Given the description of an element on the screen output the (x, y) to click on. 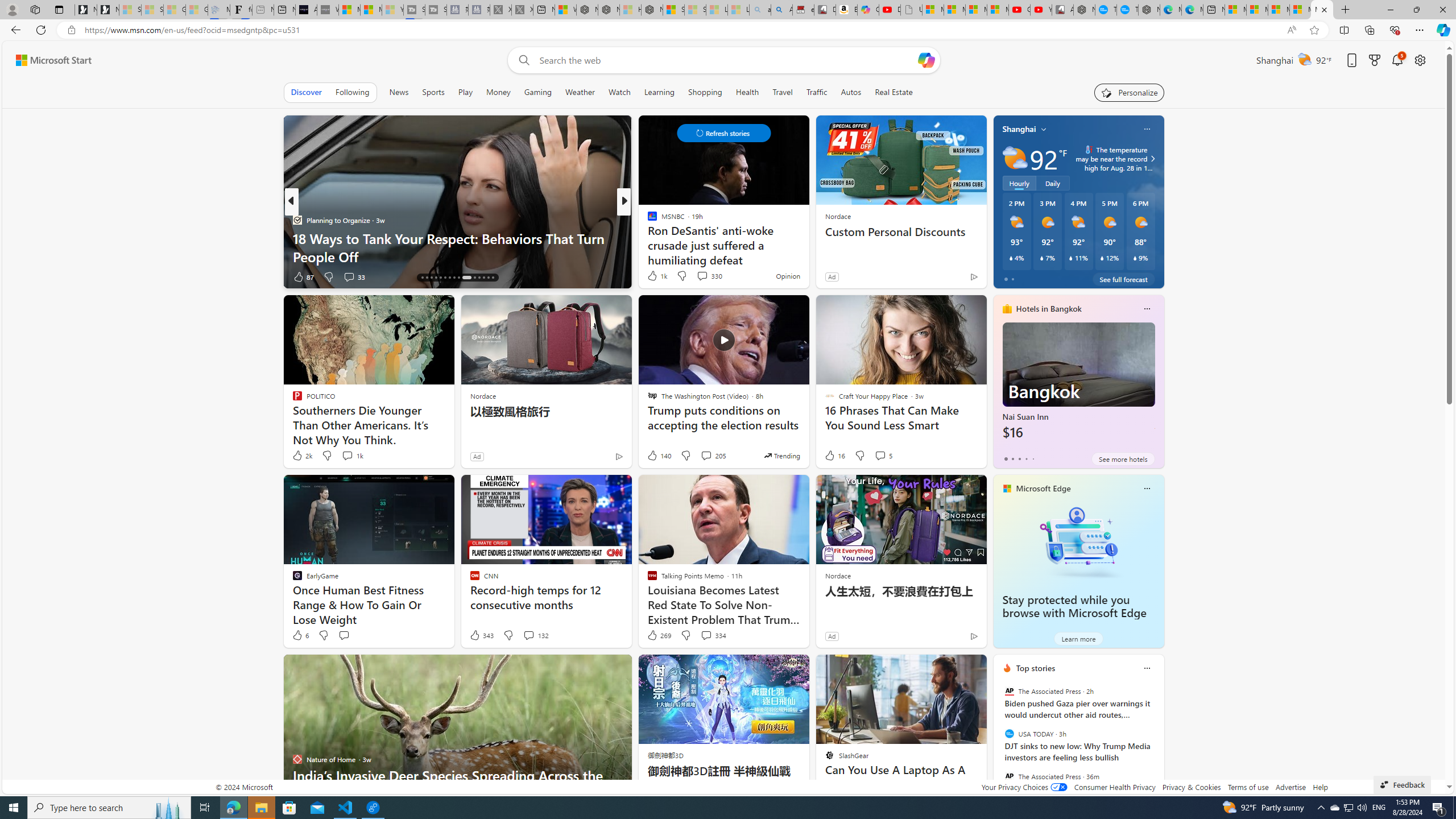
6 Like (299, 634)
Add this page to favorites (Ctrl+D) (1314, 29)
Comments turned off for this story (694, 276)
Travel (782, 92)
Close (1442, 9)
87 Like (303, 276)
MUO (647, 219)
Web search (520, 60)
Following (352, 92)
Microsoft Start (1322, 9)
Minimize (1390, 9)
